Given the description of an element on the screen output the (x, y) to click on. 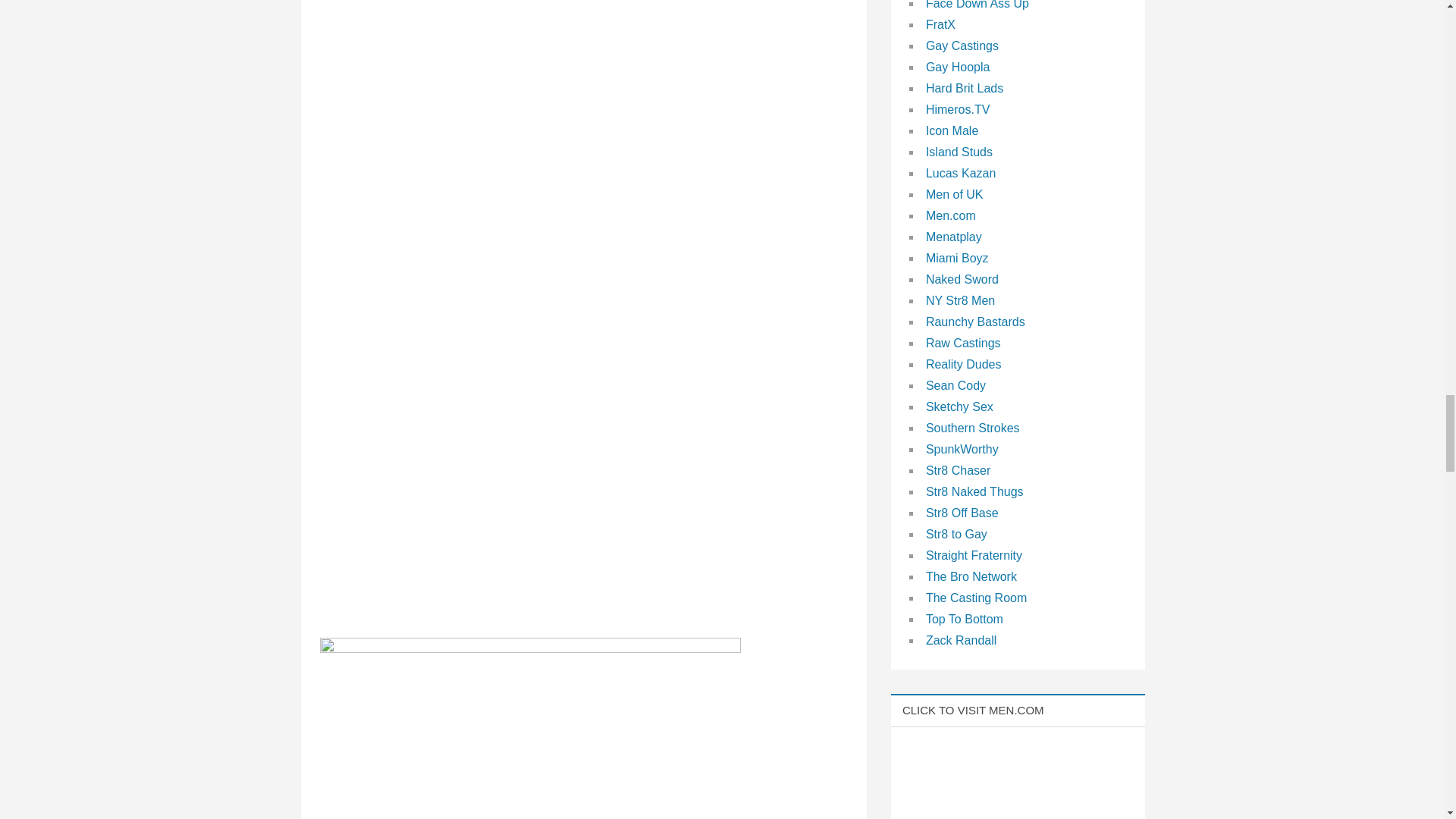
FraternityX: Party Foul (530, 728)
